Given the description of an element on the screen output the (x, y) to click on. 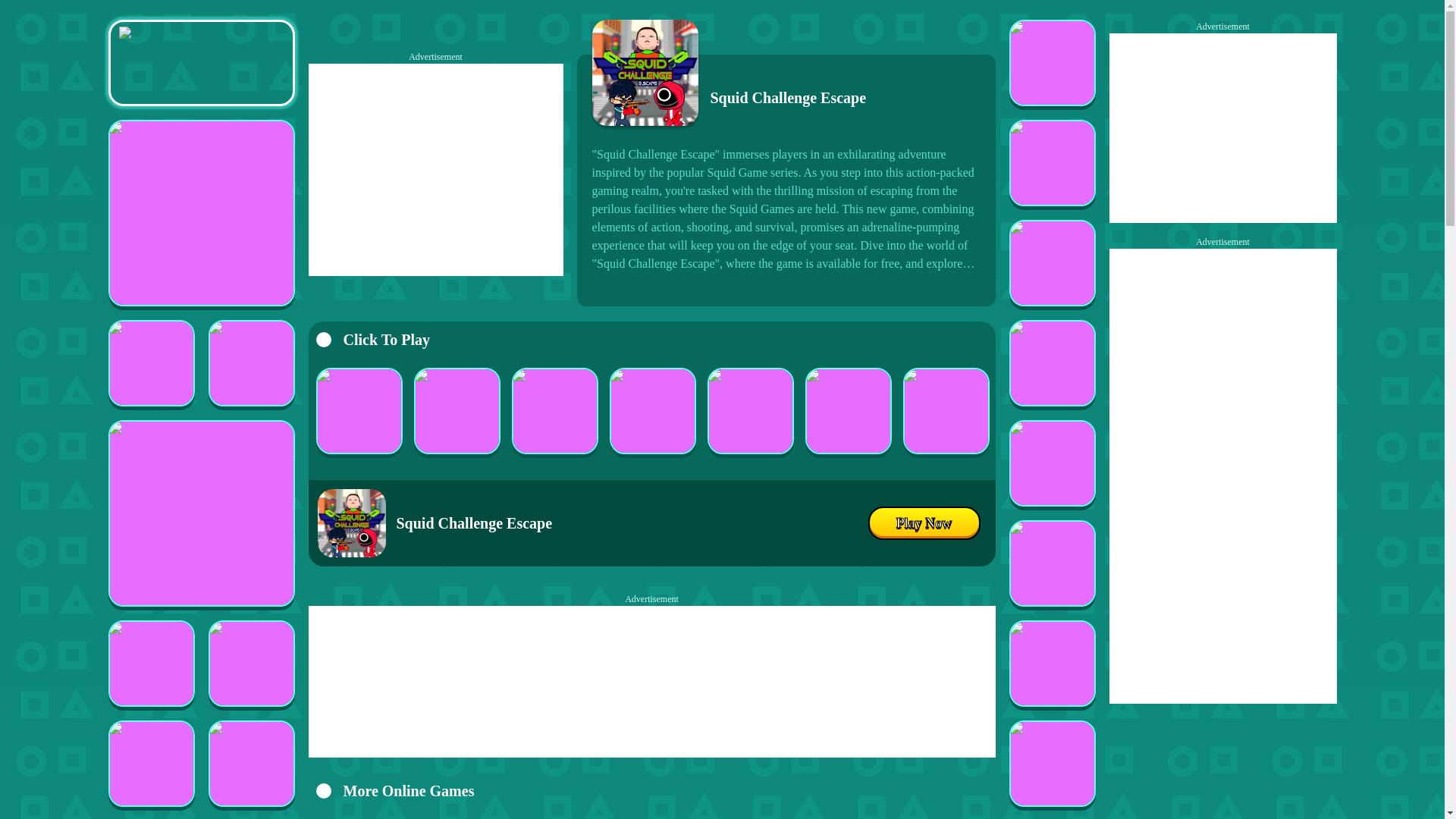
Advertisement (1222, 127)
Play Now (923, 522)
Advertisement (434, 169)
Advertisement (650, 681)
